Given the description of an element on the screen output the (x, y) to click on. 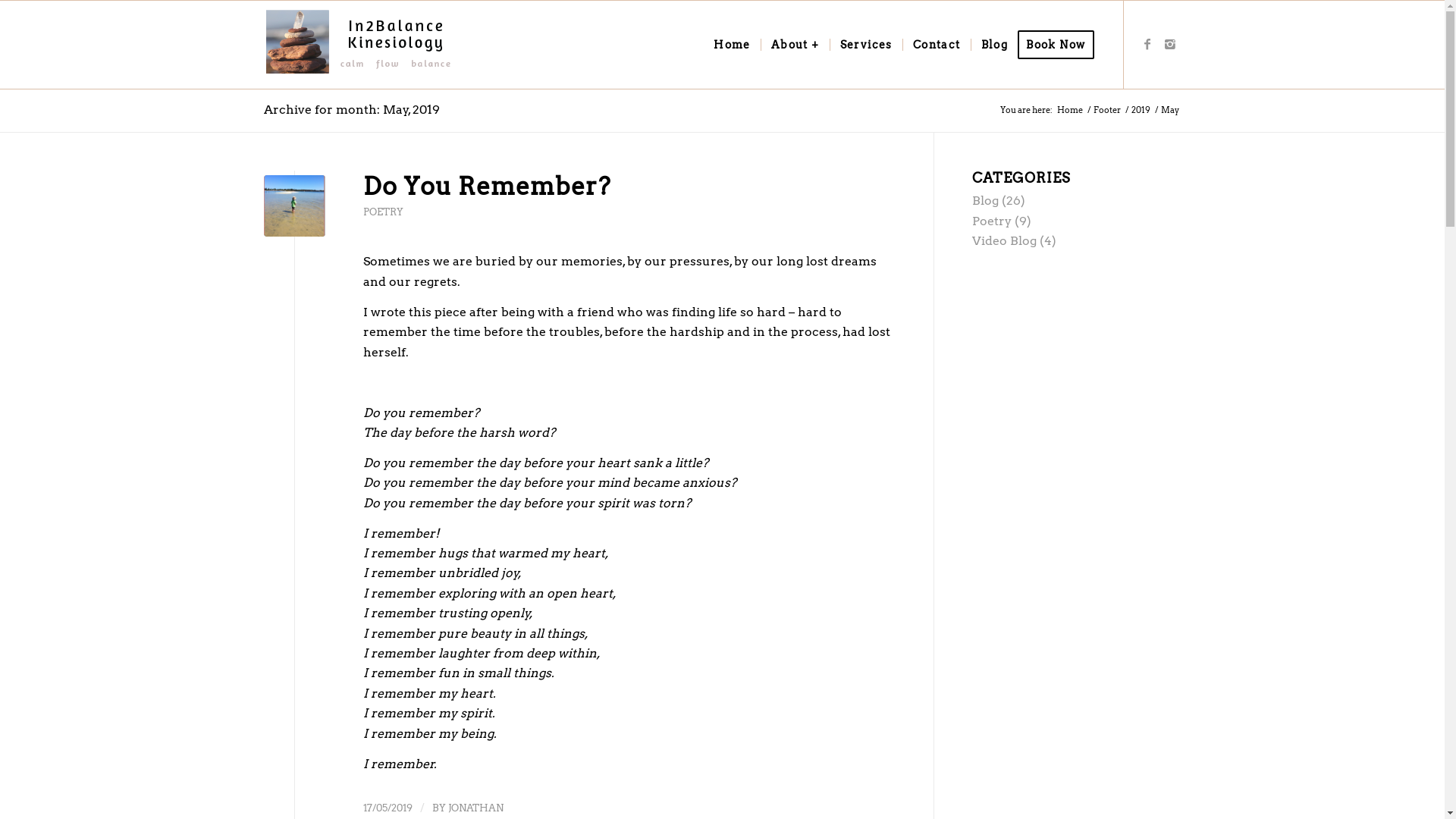
Home Element type: text (1069, 110)
Blog Element type: text (985, 200)
About + Element type: text (794, 44)
Do You Remember? Element type: text (486, 185)
JONATHAN Element type: text (474, 807)
Contact Element type: text (936, 44)
Poetry Element type: text (991, 220)
Book Now Element type: text (1060, 44)
POETRY Element type: text (382, 211)
Facebook Element type: hover (1146, 43)
Blog Element type: text (994, 44)
Video Blog Element type: text (1004, 240)
Services Element type: text (865, 44)
Home Element type: text (731, 44)
Do You Remember? Element type: hover (294, 205)
Instagram Element type: hover (1169, 43)
Footer Element type: text (1106, 110)
2019 Element type: text (1139, 110)
